Given the description of an element on the screen output the (x, y) to click on. 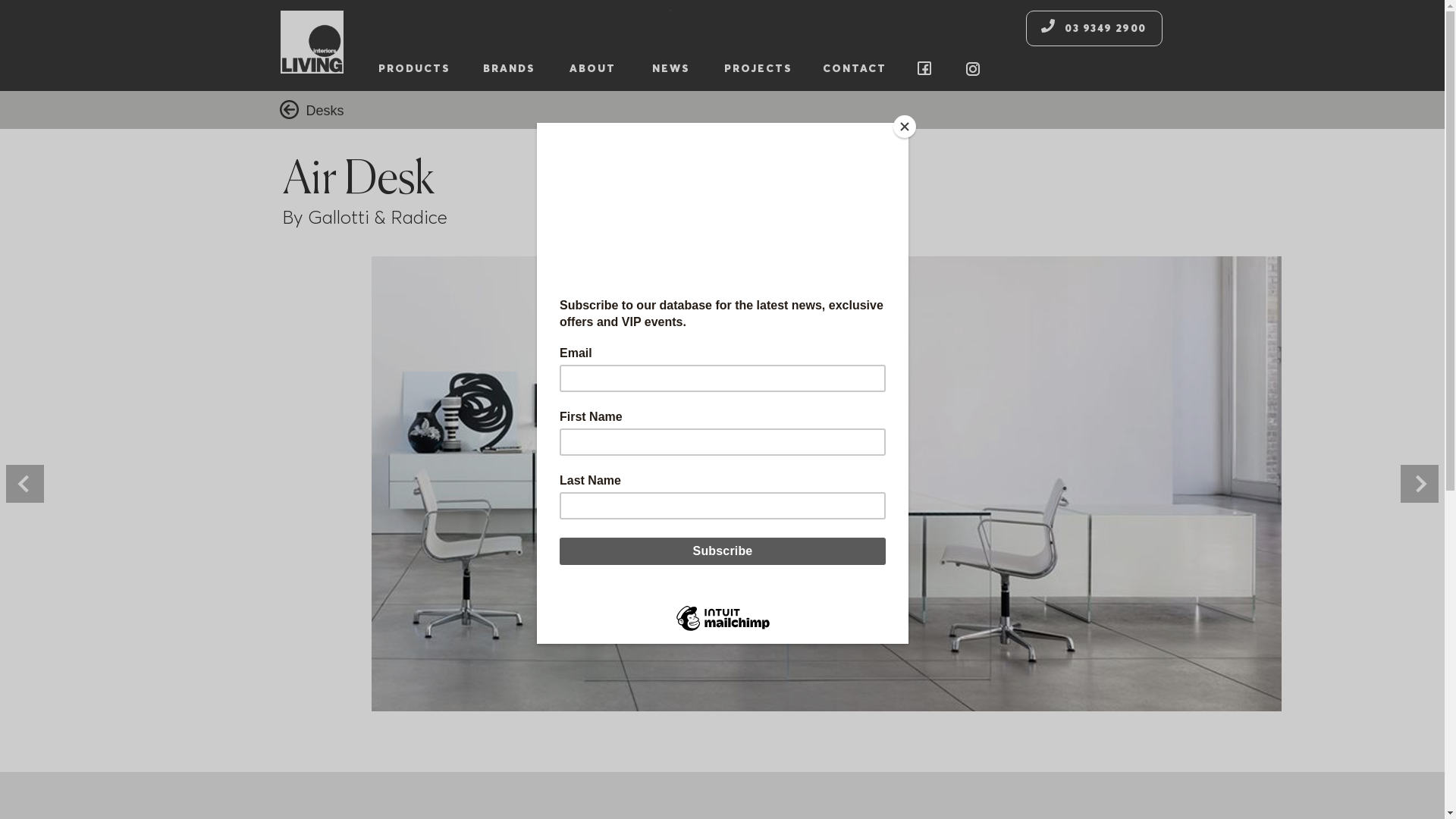
CONTACT Element type: text (854, 68)
Desks Element type: text (325, 110)
BRANDS Element type: text (508, 68)
PRODUCTS Element type: text (414, 68)
NEWS Element type: text (671, 68)
PROJECTS Element type: text (757, 68)
ABOUT Element type: text (592, 68)
